Given the description of an element on the screen output the (x, y) to click on. 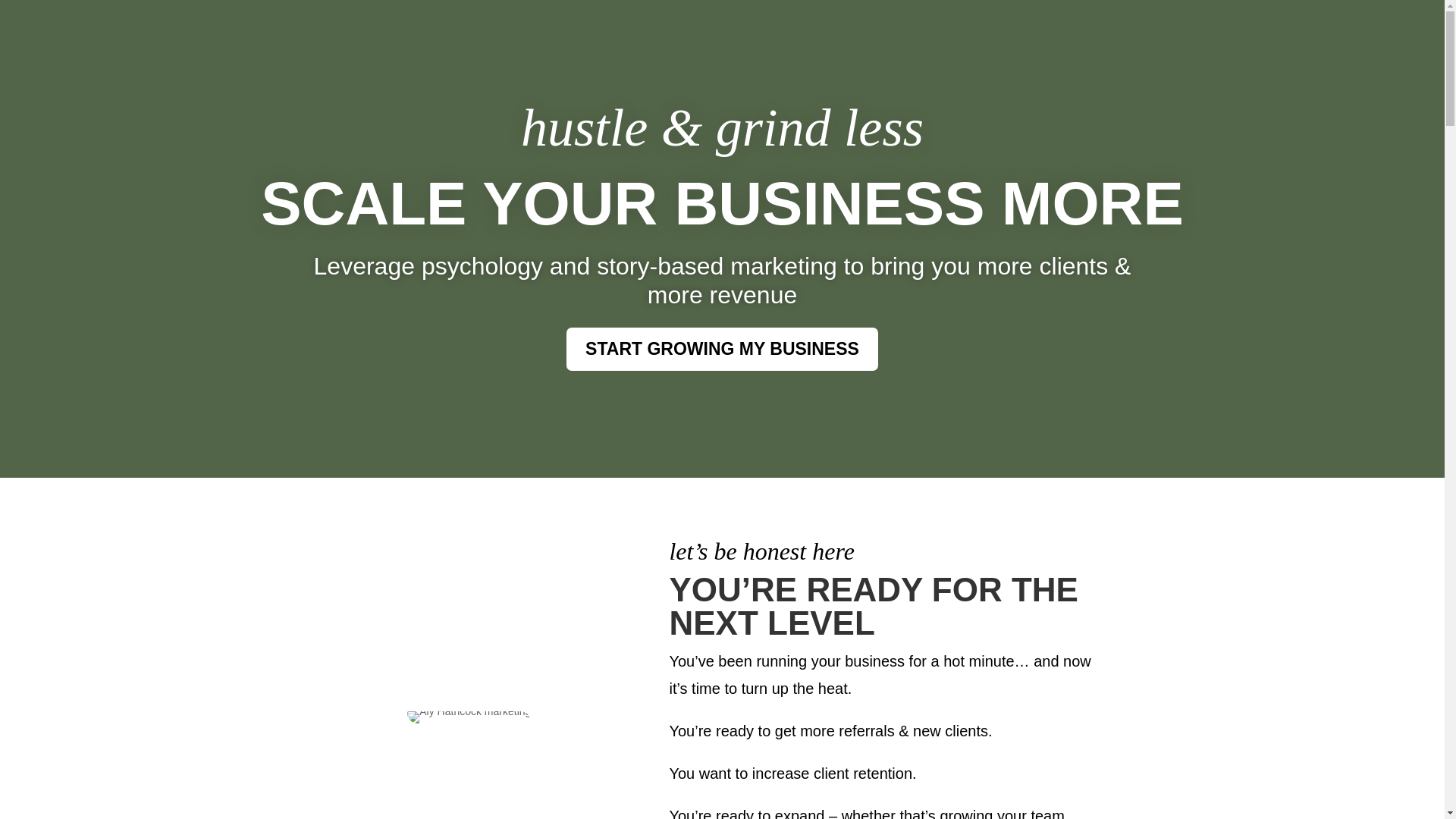
START GROWING MY BUSINESS (721, 349)
Aly Hathcock - Cropped Photo (469, 717)
